Given the description of an element on the screen output the (x, y) to click on. 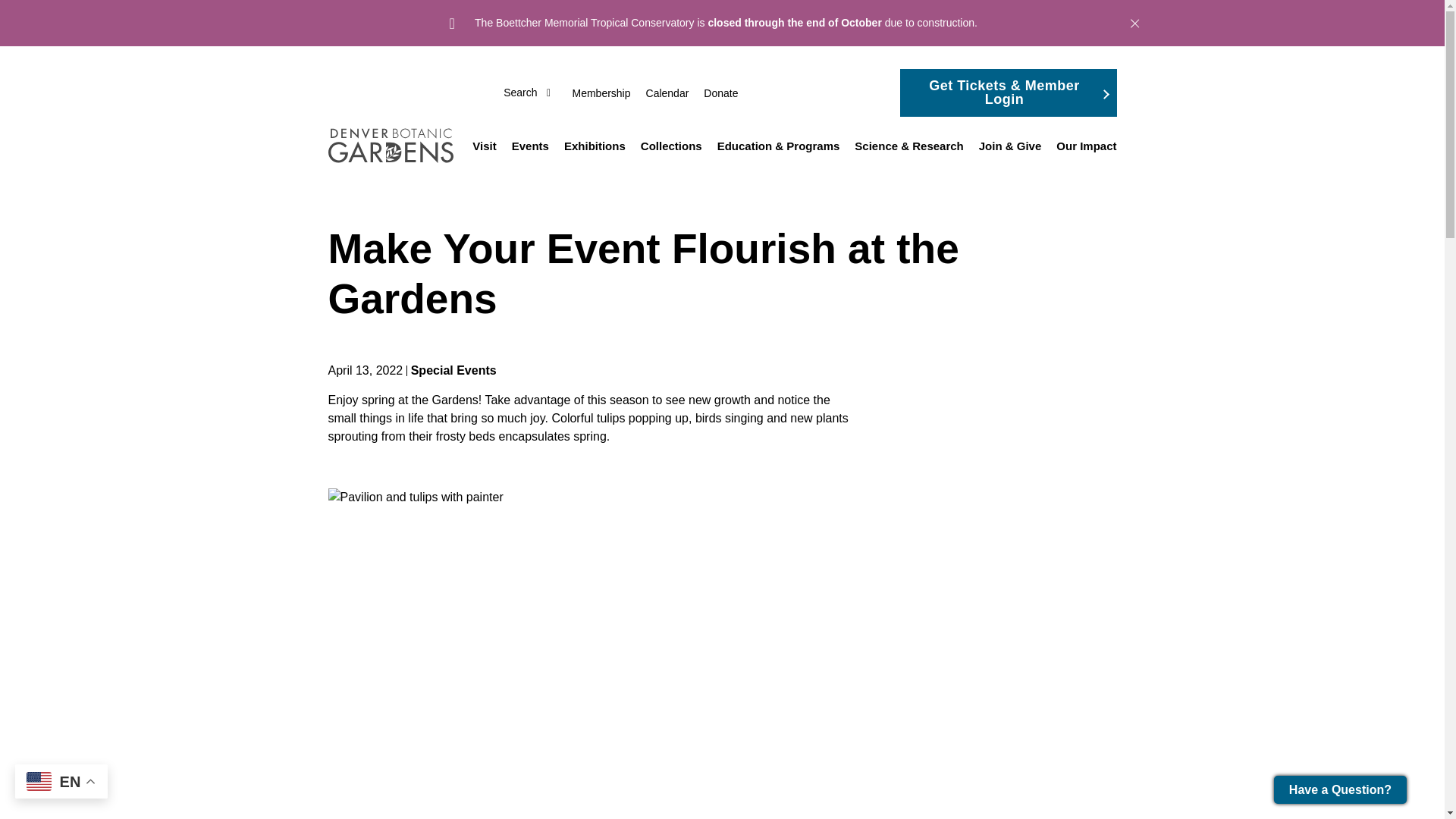
Calendar (667, 92)
Visit (483, 145)
Donate (720, 92)
Close notification (1133, 22)
Membership (601, 92)
Events (529, 145)
